Given the description of an element on the screen output the (x, y) to click on. 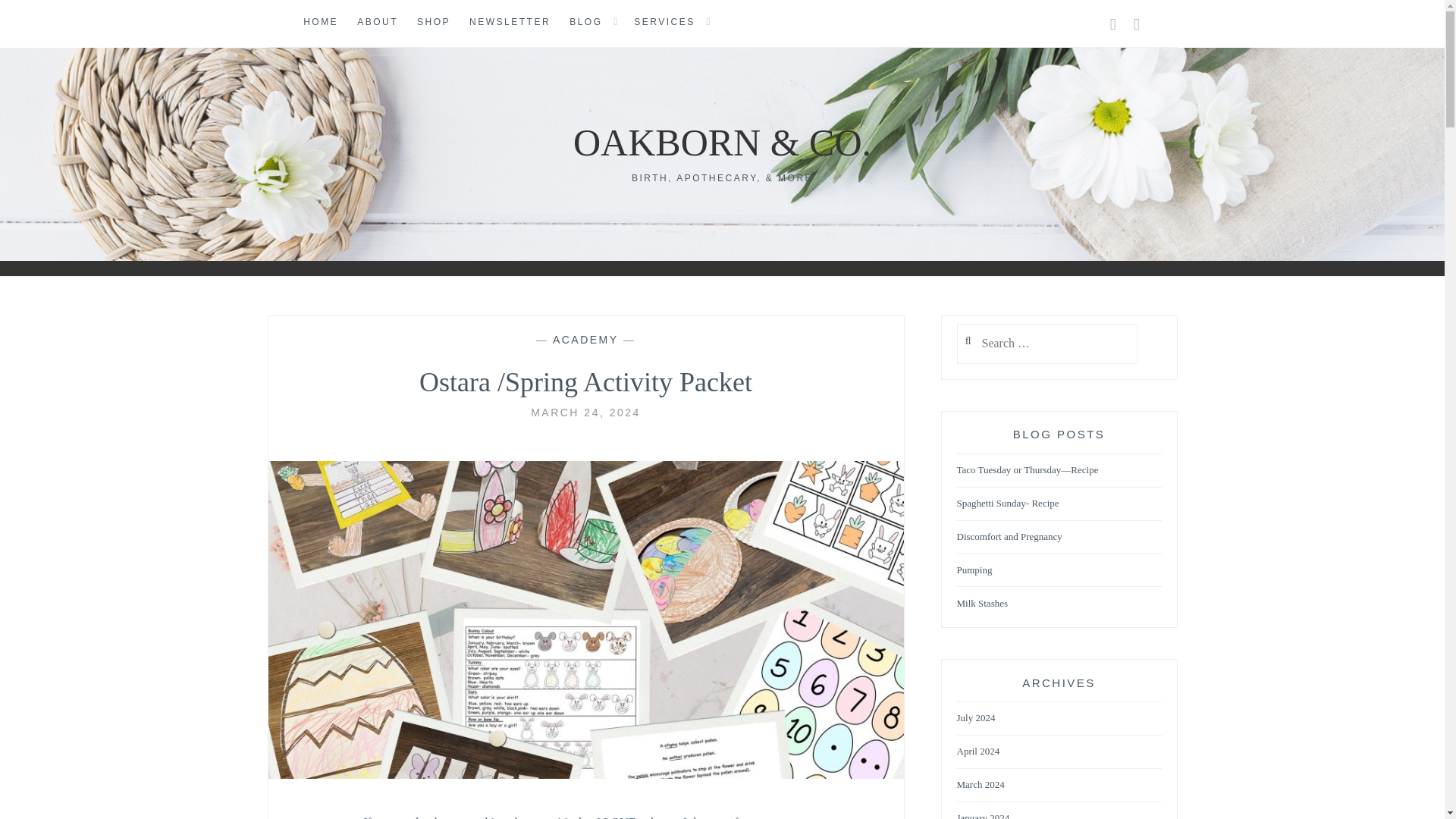
HOME (319, 22)
SHOP (432, 22)
BLOG (585, 22)
ACADEMY (585, 339)
ABOUT (376, 22)
NEWSLETTER (509, 22)
SERVICES (663, 22)
